Given the description of an element on the screen output the (x, y) to click on. 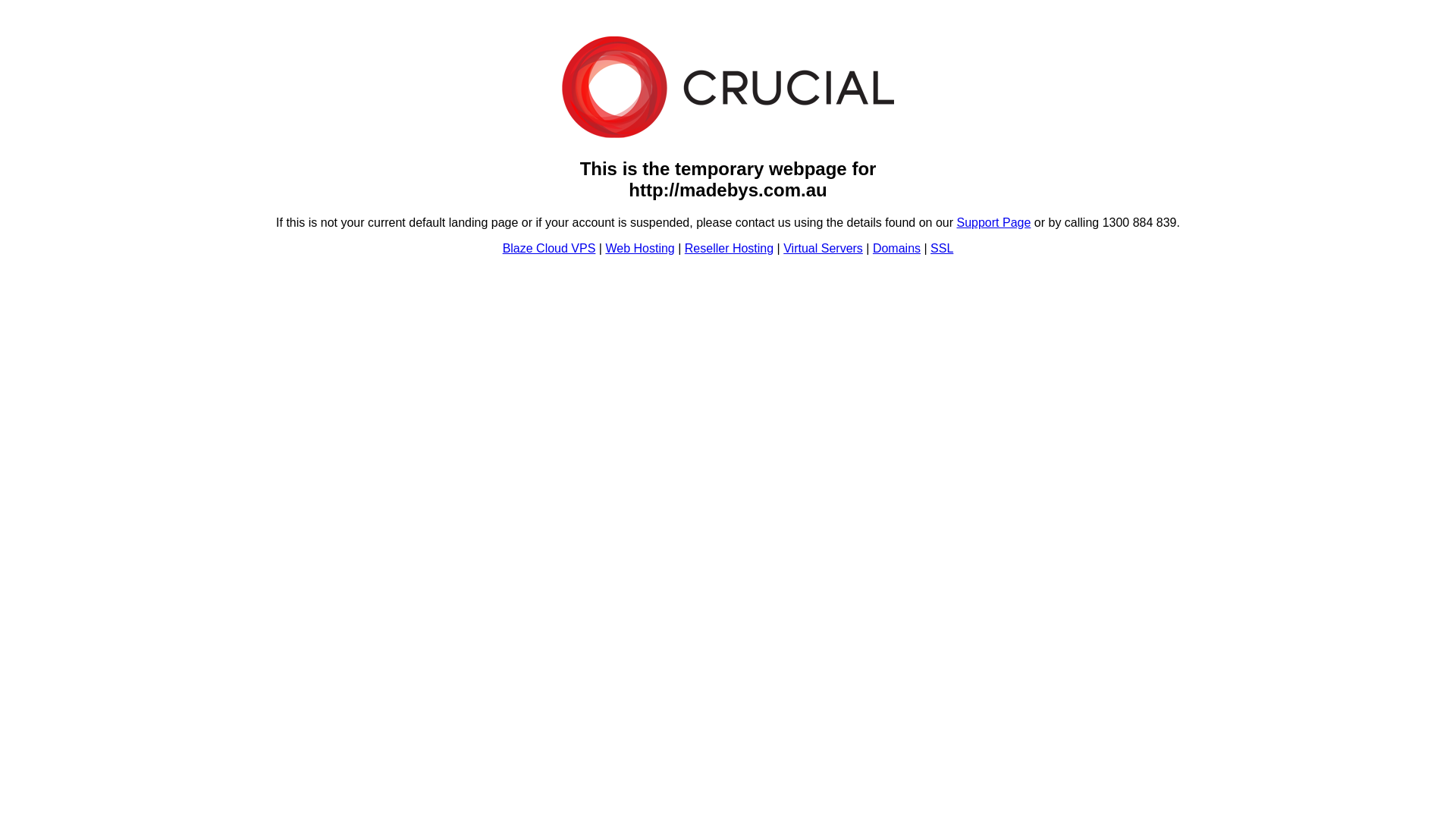
Support Page Element type: text (994, 222)
Domains Element type: text (896, 247)
Blaze Cloud VPS Element type: text (549, 247)
SSL Element type: text (941, 247)
Reseller Hosting Element type: text (728, 247)
Web Hosting Element type: text (639, 247)
Virtual Servers Element type: text (822, 247)
